Given the description of an element on the screen output the (x, y) to click on. 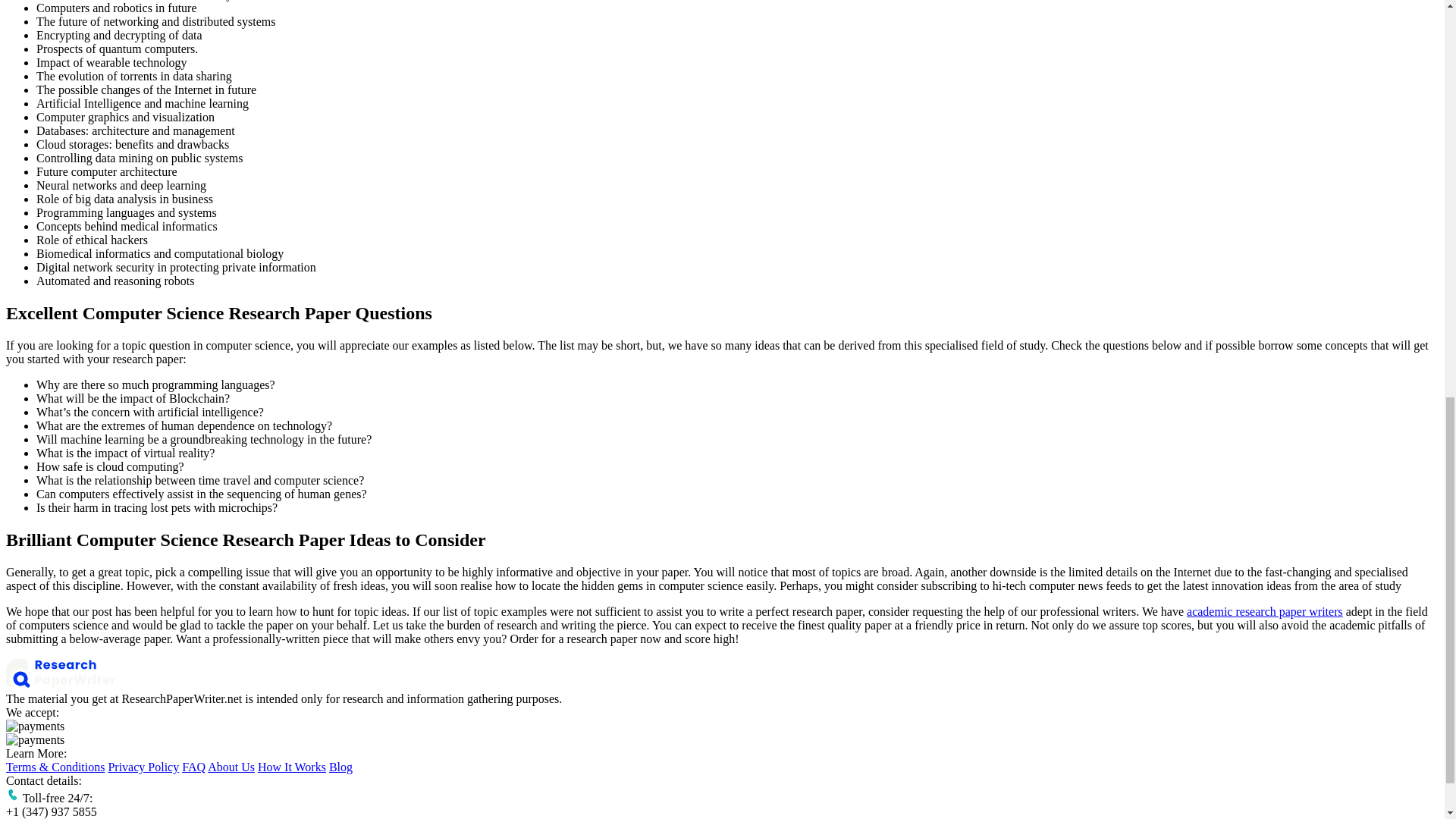
academic research paper writers (1264, 611)
About Us (231, 766)
Privacy Policy (143, 766)
Blog (340, 766)
FAQ (193, 766)
How It Works (291, 766)
